Given the description of an element on the screen output the (x, y) to click on. 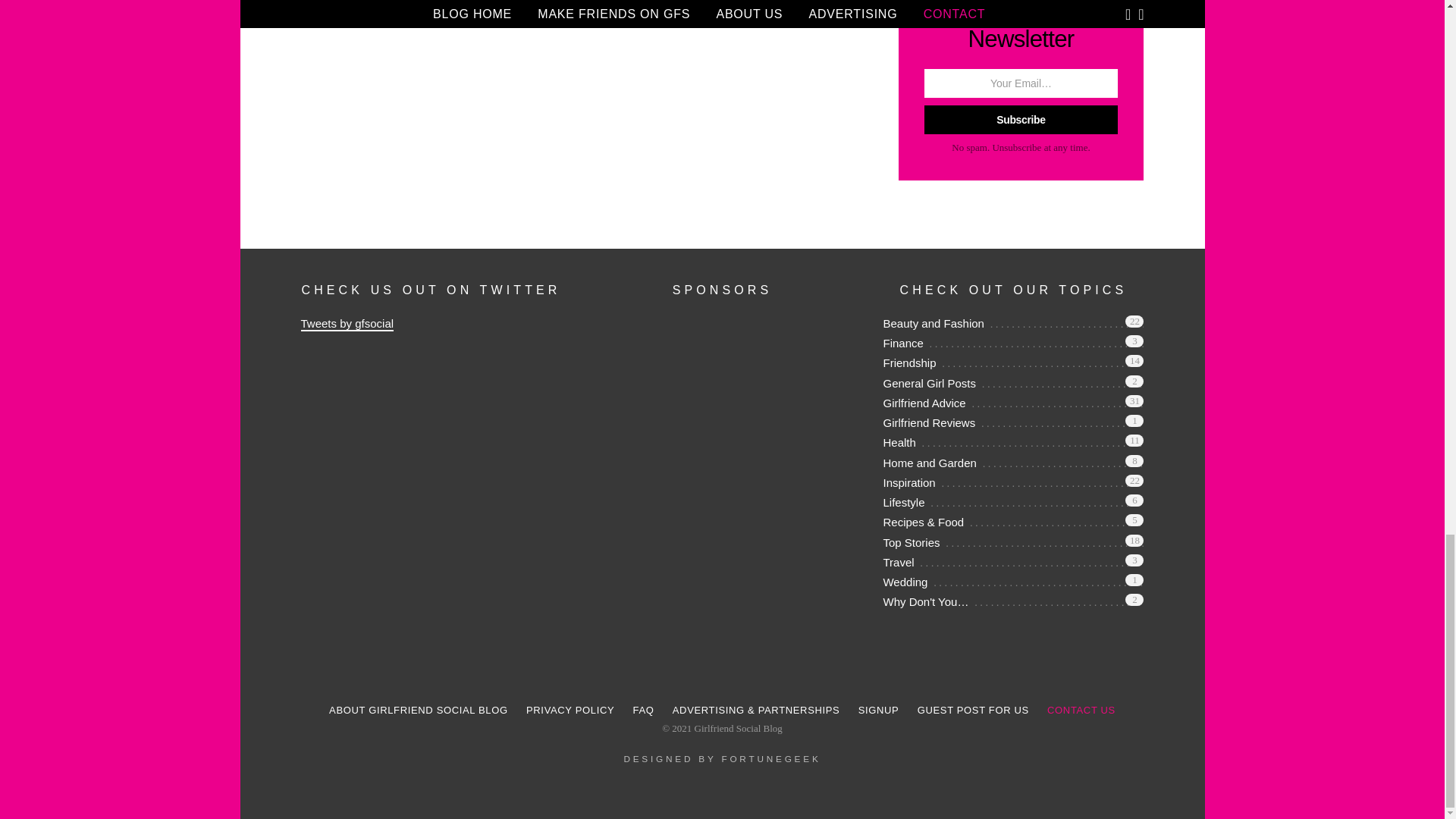
Subscribe (1020, 119)
